Given the description of an element on the screen output the (x, y) to click on. 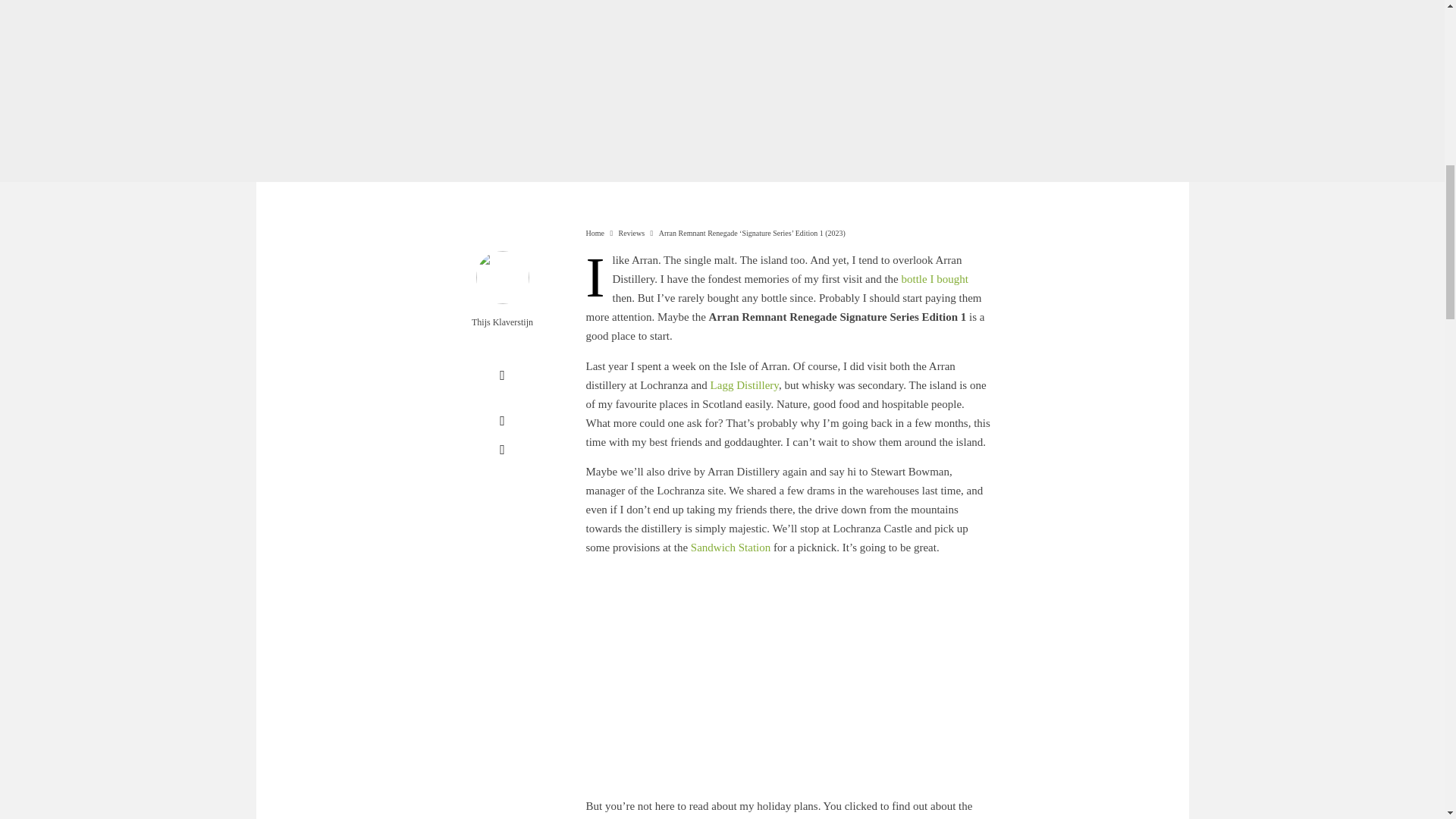
Home (594, 233)
Sandwich Station (730, 547)
Lagg Distillery (744, 385)
bottle I bought (934, 278)
Reviews (631, 233)
Thijs Klaverstijn (501, 322)
